Given the description of an element on the screen output the (x, y) to click on. 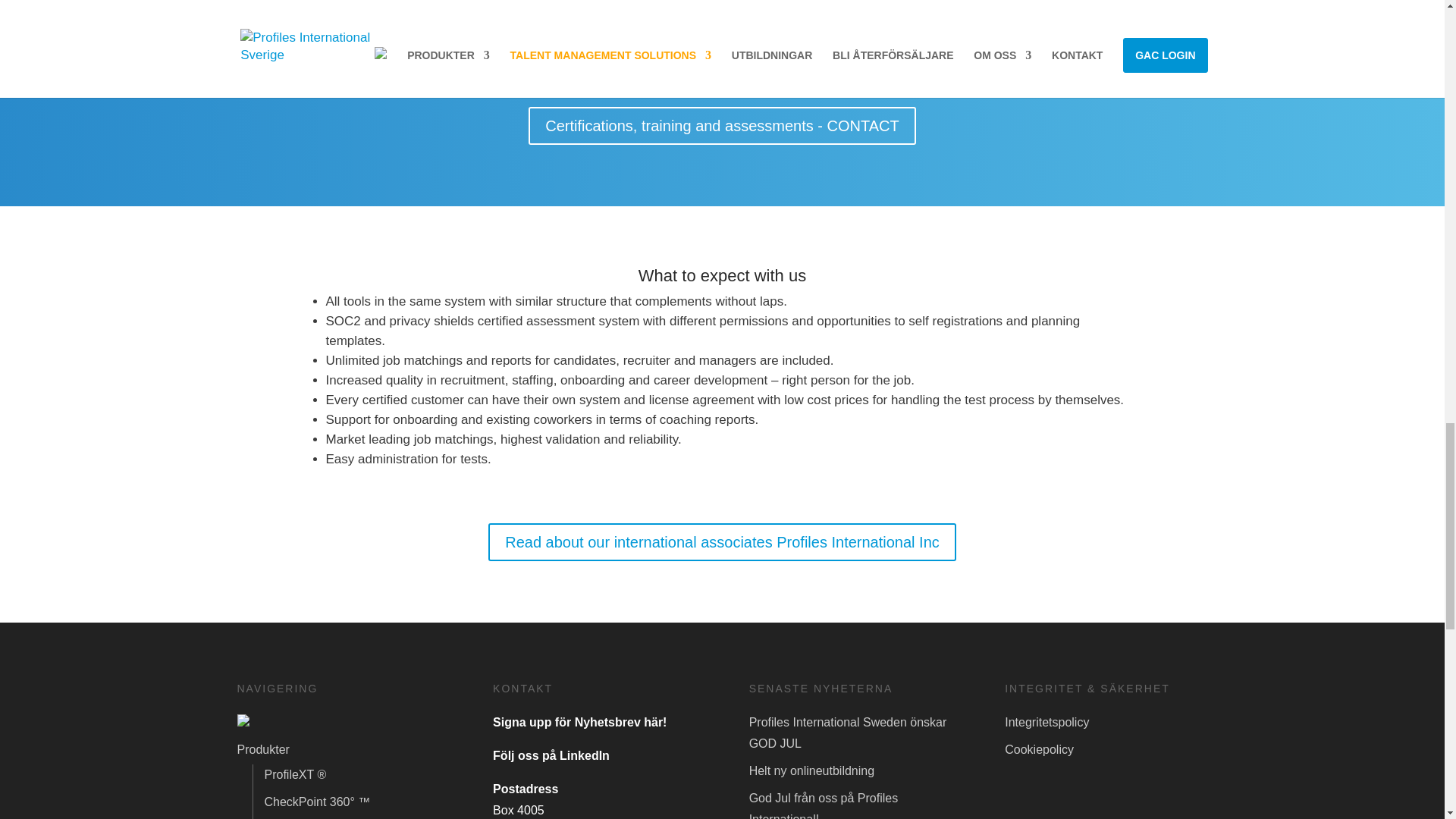
Produkter (261, 748)
Certifications, training and assessments - CONTACT (721, 125)
